Given the description of an element on the screen output the (x, y) to click on. 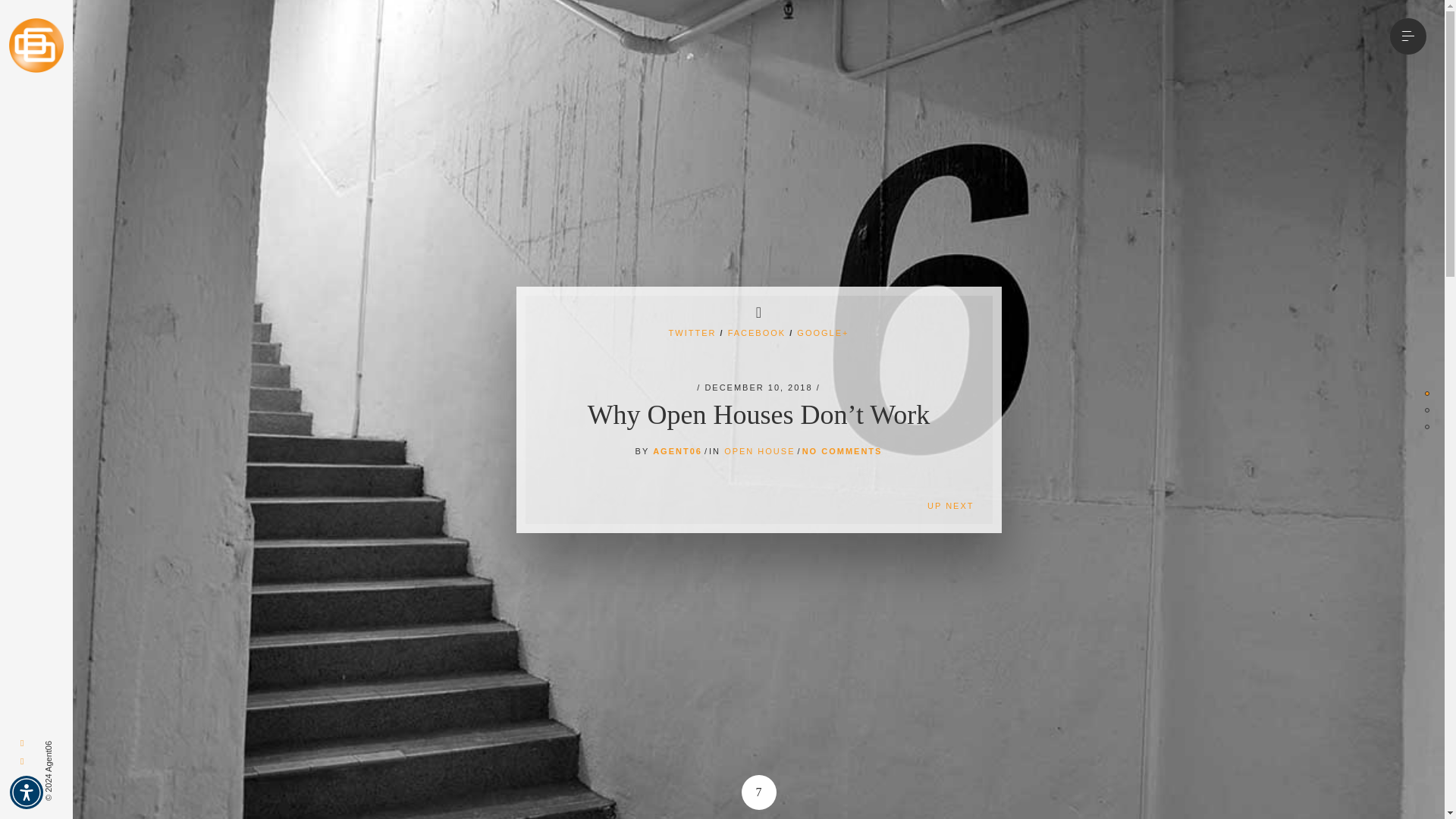
Post Comment (481, 764)
TWITTER (692, 331)
Scroll down (758, 791)
View all posts by Agent06 (676, 450)
Scroll down (758, 791)
FACEBOOK (757, 331)
AGENT06 (676, 450)
UP NEXT (922, 505)
OPEN HOUSE (758, 450)
NO COMMENTS (842, 450)
Accessibility Menu (26, 792)
Open sidebar (1408, 36)
